Given the description of an element on the screen output the (x, y) to click on. 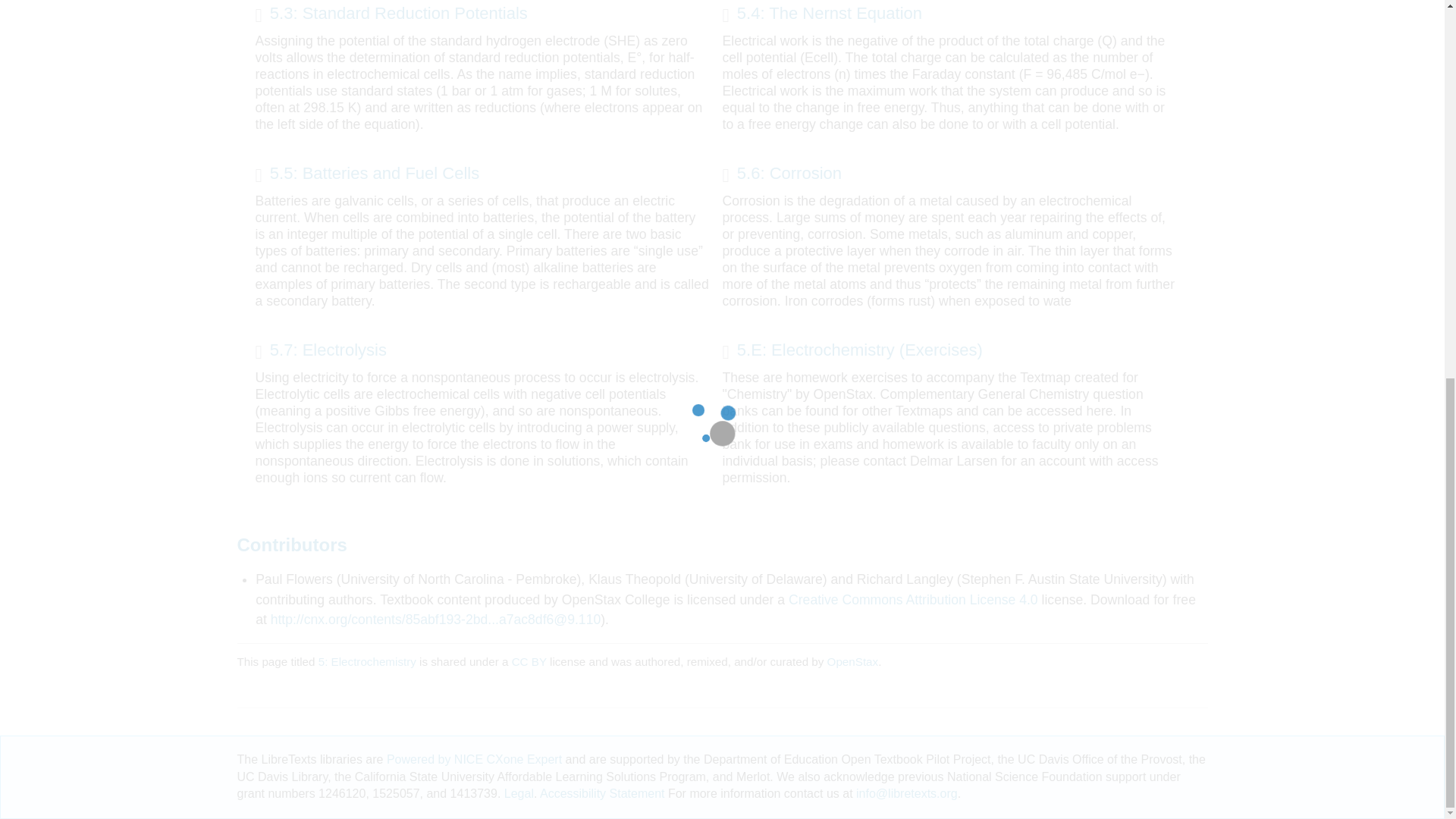
5.7: Electrolysis (319, 352)
5.6: Corrosion (781, 175)
5.3: Standard Reduction Potentials (390, 15)
5.5: Batteries and Fuel Cells (366, 175)
5.4: The Nernst Equation (821, 15)
